Given the description of an element on the screen output the (x, y) to click on. 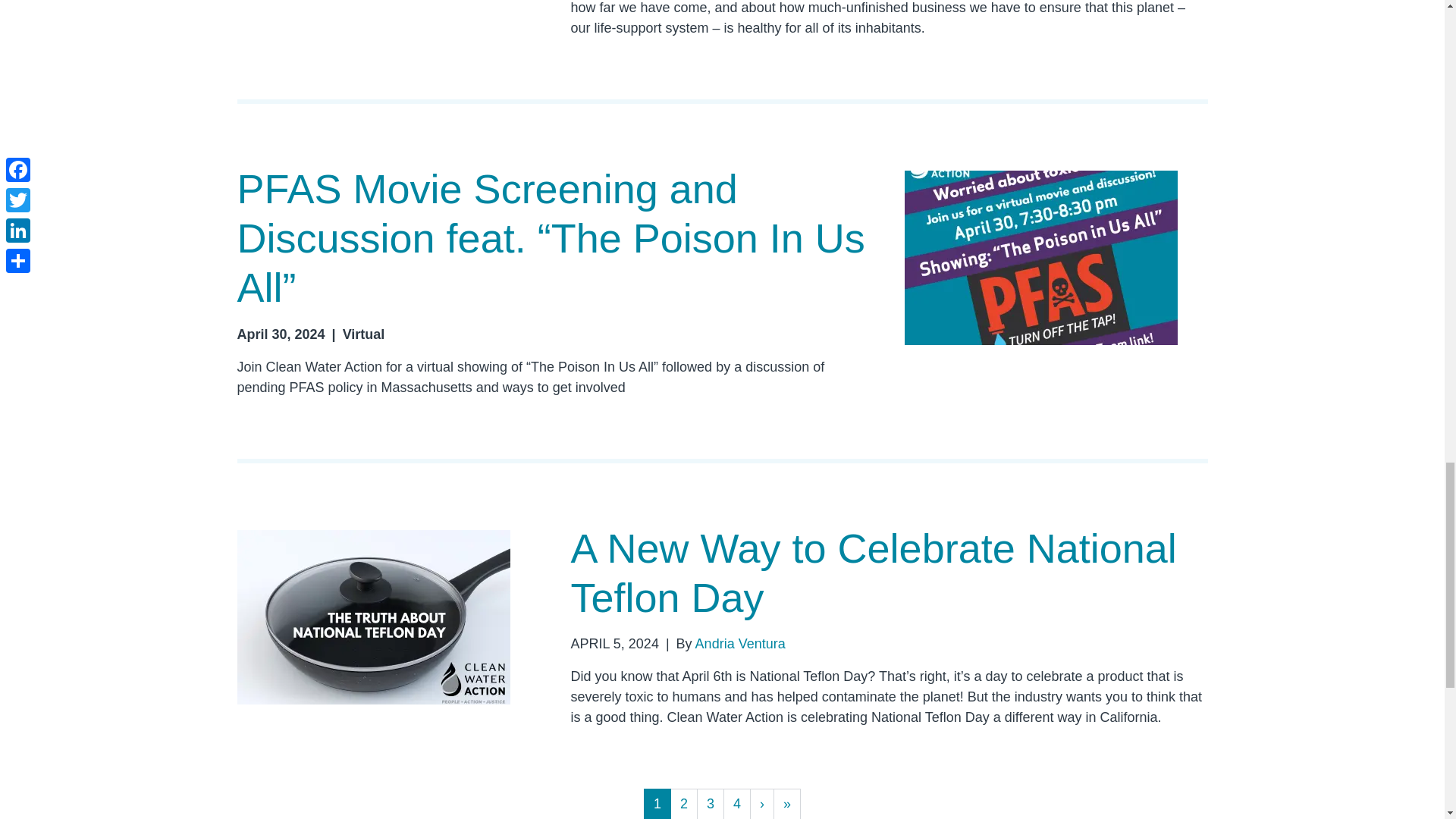
Go to last page (786, 803)
Go to page 3 (710, 803)
Go to next page (761, 803)
Current page (657, 803)
Go to page 4 (737, 803)
Go to page 2 (683, 803)
